Given the description of an element on the screen output the (x, y) to click on. 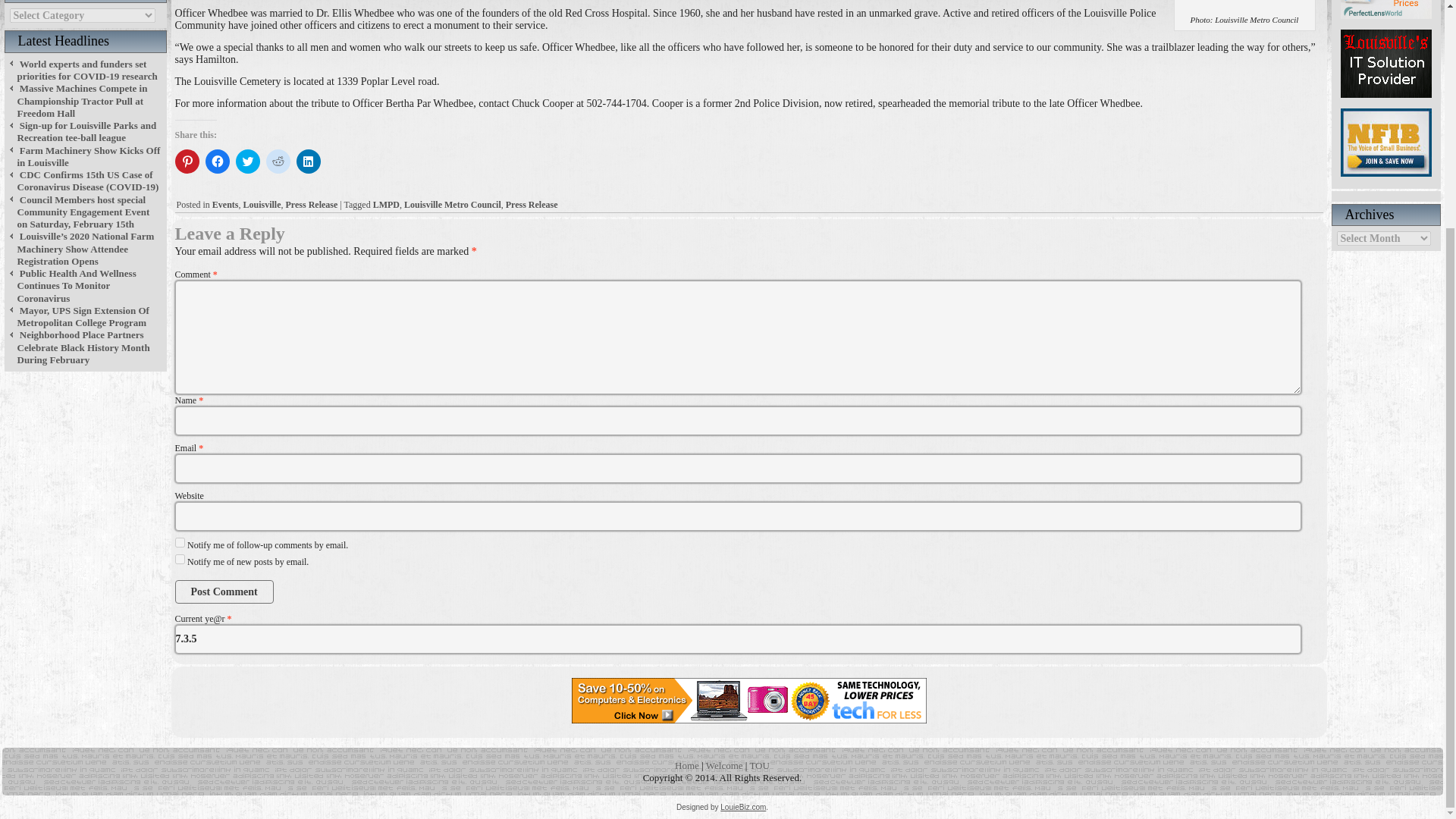
7.3.5 (737, 638)
Post Comment (223, 591)
Post Comment (223, 591)
Press Release (531, 204)
Mayor, UPS Sign Extension Of Metropolitan College Program (82, 316)
Click to share on Twitter (246, 161)
Events (225, 204)
LMPD (385, 204)
Press Release (311, 204)
Farm Machinery Show Kicks Off in Louisville (88, 156)
